Given the description of an element on the screen output the (x, y) to click on. 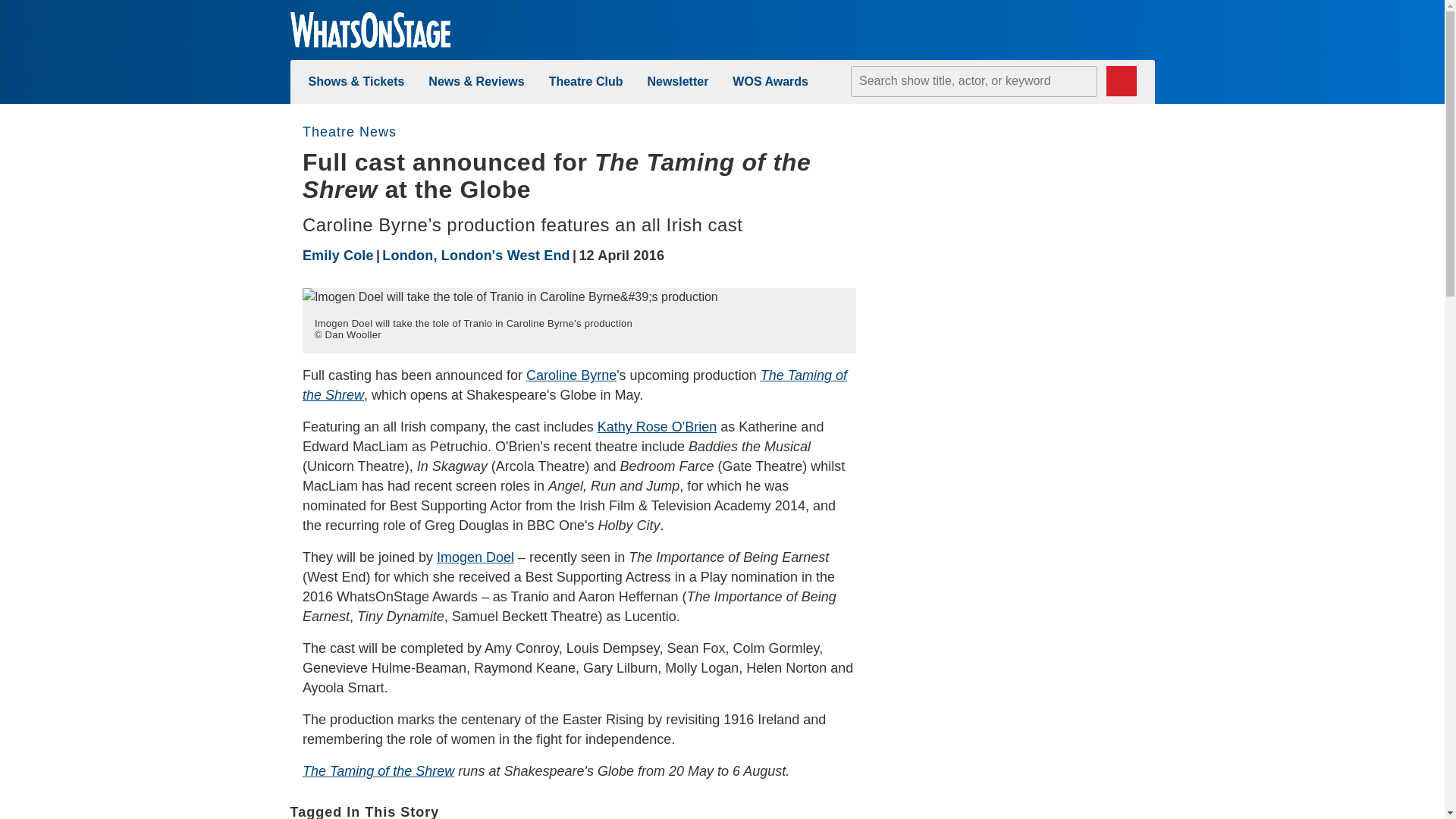
new-and-reviews-link (476, 81)
Newsletter (676, 81)
WOS Awards (770, 81)
Theatre Club (585, 81)
